Given the description of an element on the screen output the (x, y) to click on. 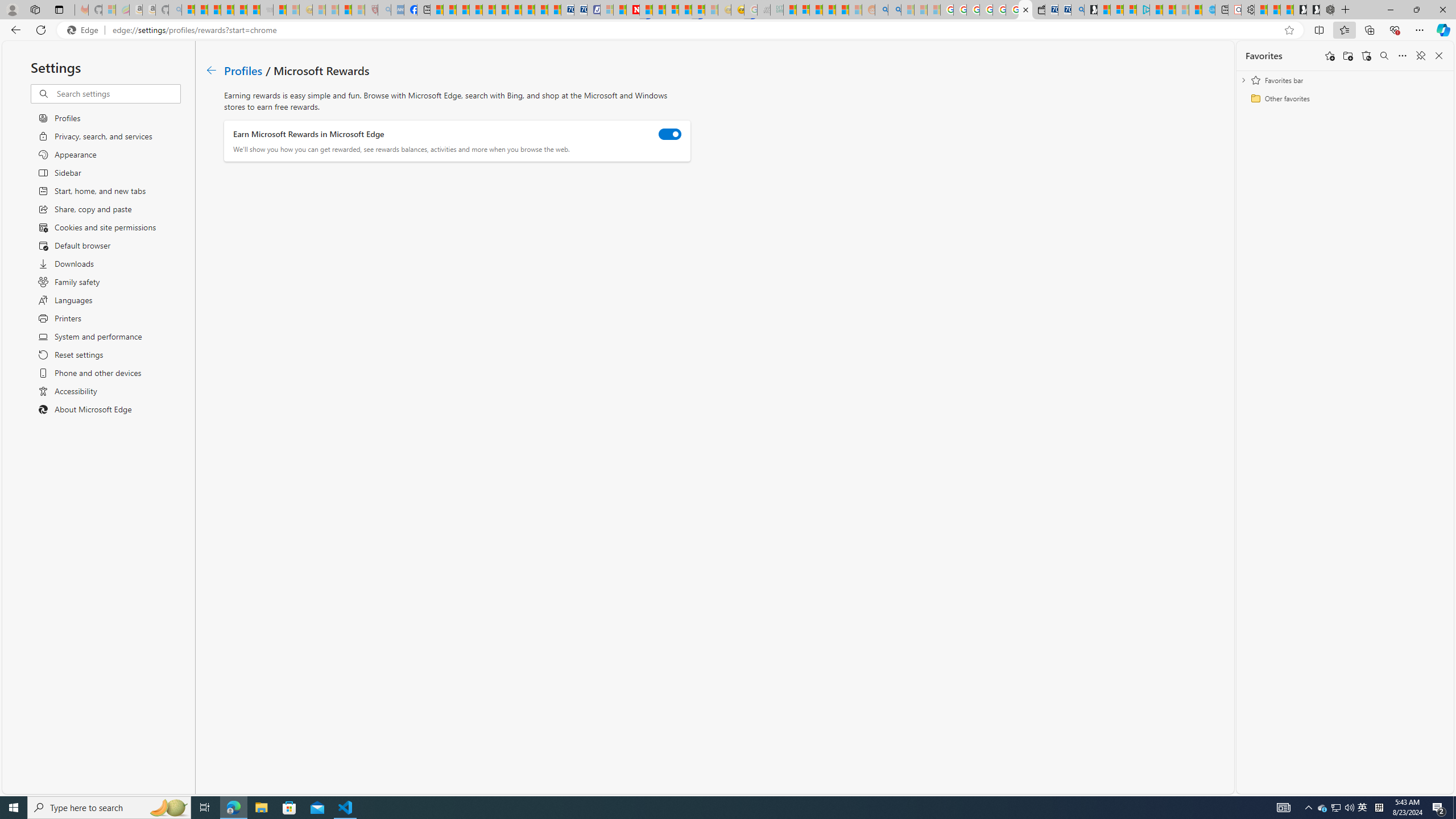
Student Loan Update: Forgiveness Program Ends This Month (842, 9)
Go back to Profiles page. (210, 70)
Close favorites (1439, 55)
Latest Politics News & Archive | Newsweek.com (633, 9)
